Given the description of an element on the screen output the (x, y) to click on. 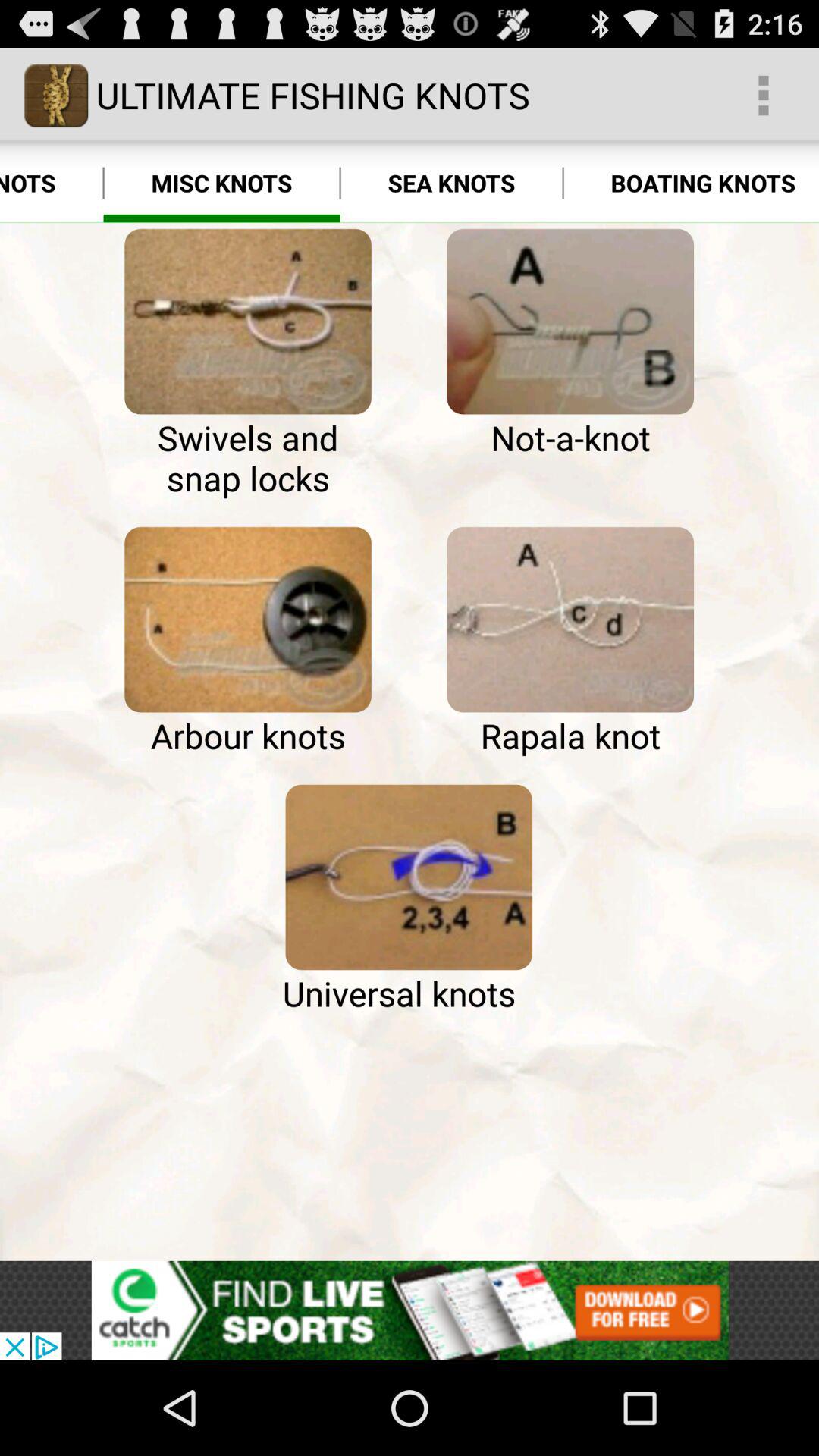
fishing line attached to the arbor of a fishing ree (247, 619)
